Given the description of an element on the screen output the (x, y) to click on. 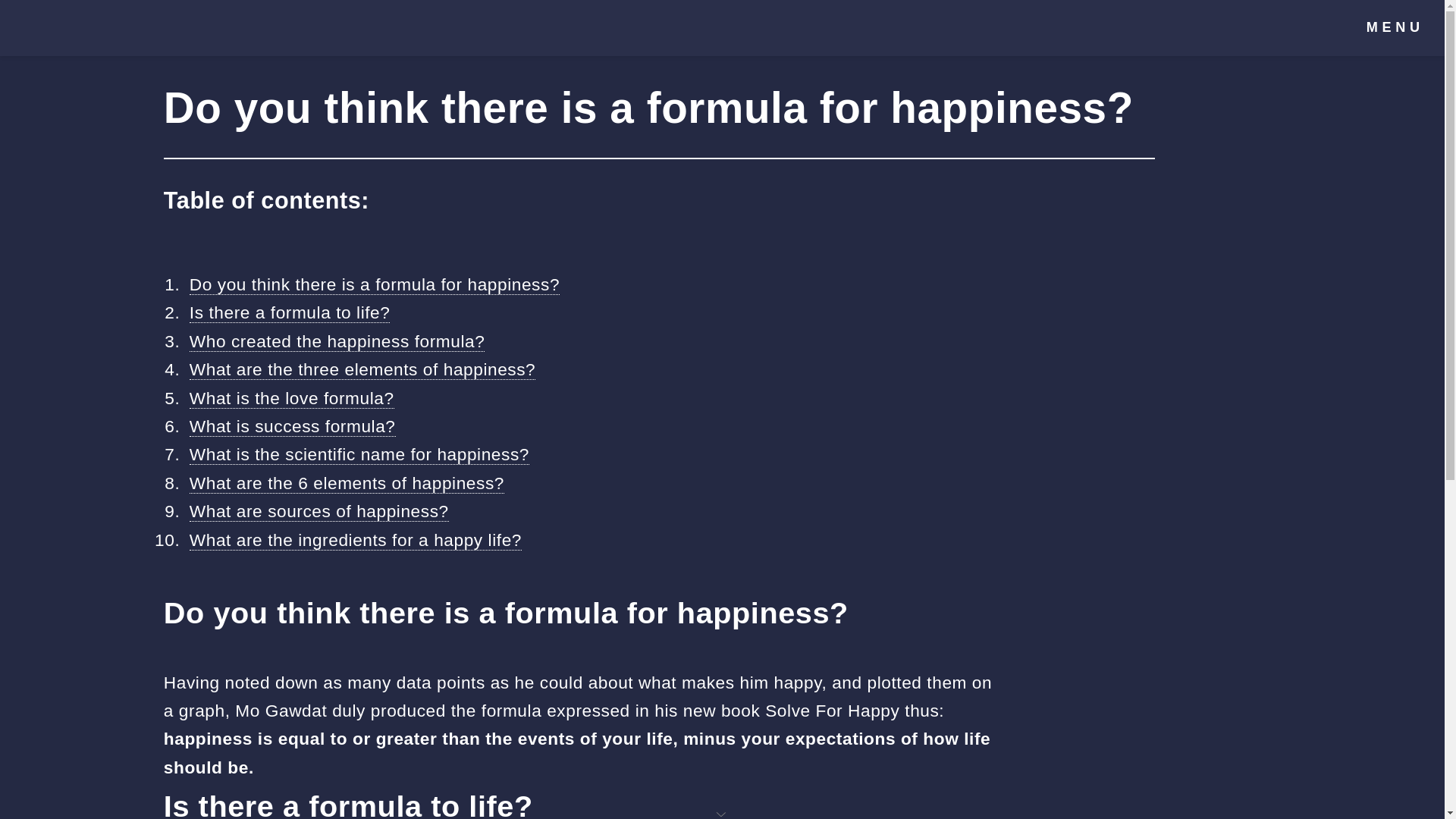
Do you think there is a formula for happiness? (374, 284)
What are sources of happiness? (318, 511)
Ad.Plus Advertising (722, 813)
What are the ingredients for a happy life? (355, 539)
Who created the happiness formula? (336, 341)
What are the 6 elements of happiness? (346, 483)
What is the scientific name for happiness? (359, 454)
What is success formula? (292, 426)
Is there a formula to life? (289, 312)
What is the love formula? (291, 398)
What are the three elements of happiness? (362, 369)
